Given the description of an element on the screen output the (x, y) to click on. 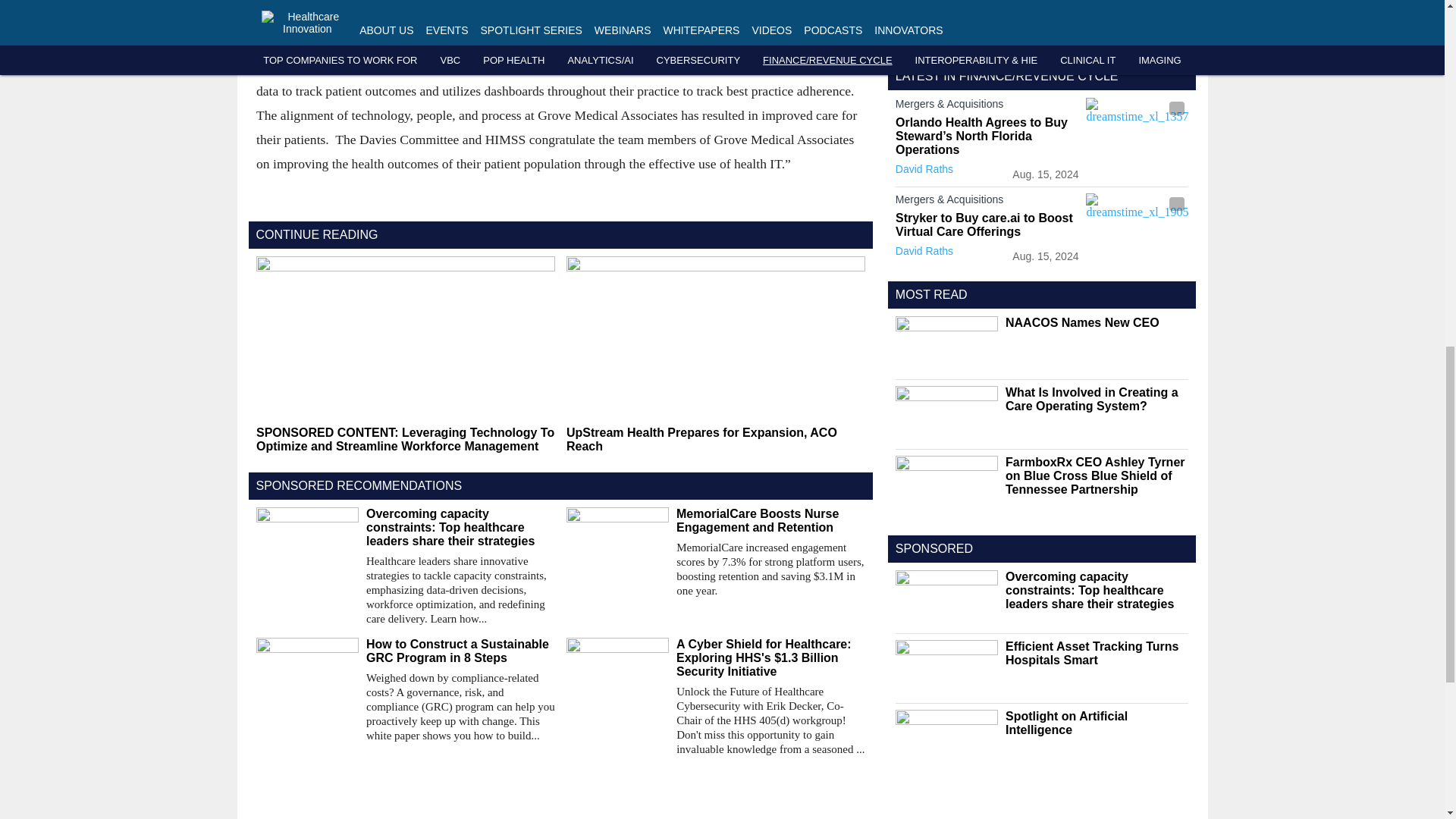
How to Construct a Sustainable GRC Program in 8 Steps (459, 651)
MemorialCare Boosts Nurse Engagement and Retention (770, 520)
UpStream Health Prepares for Expansion, ACO Reach (715, 439)
